Given the description of an element on the screen output the (x, y) to click on. 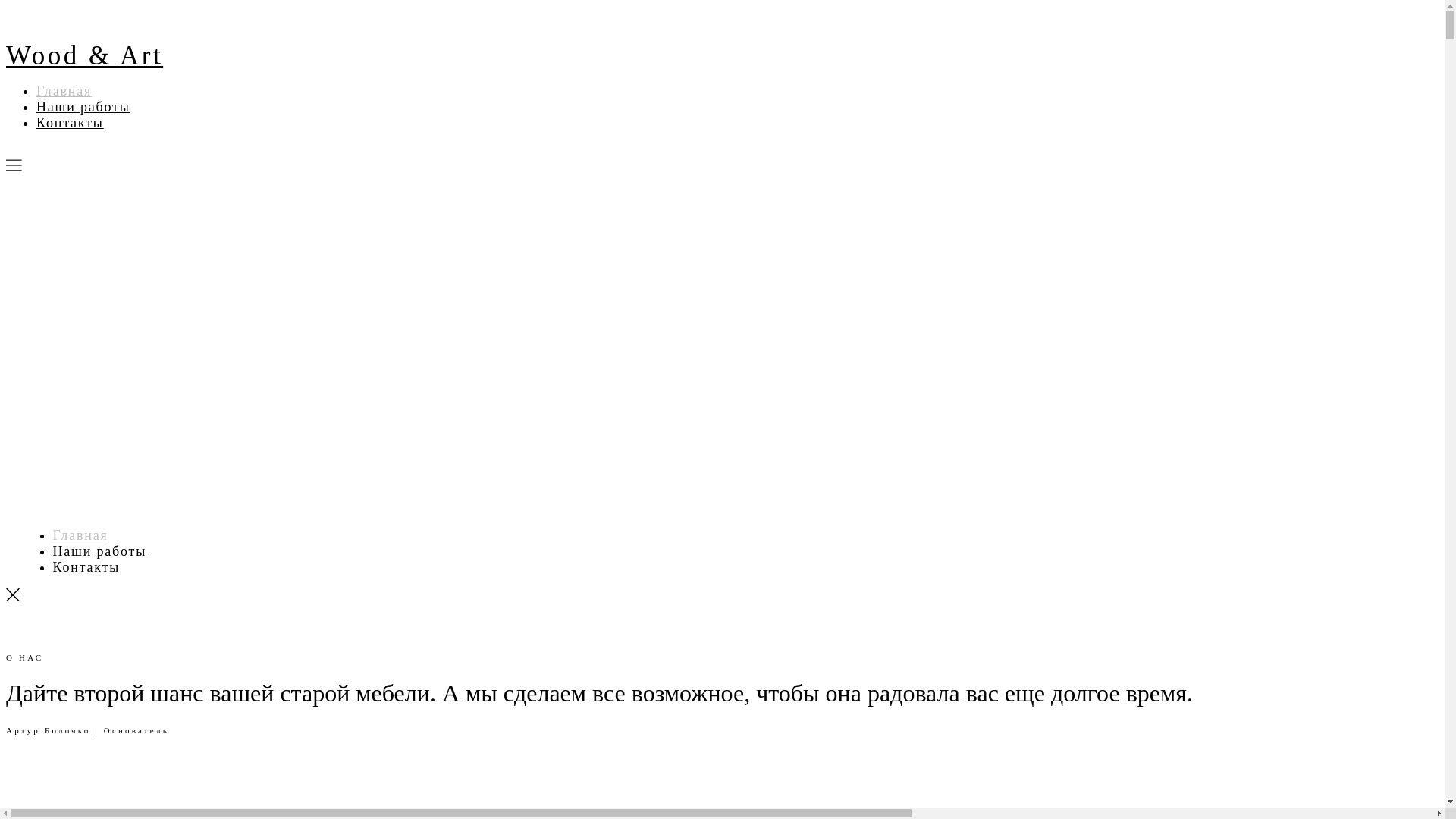
Wood & Art Element type: text (84, 55)
